Given the description of an element on the screen output the (x, y) to click on. 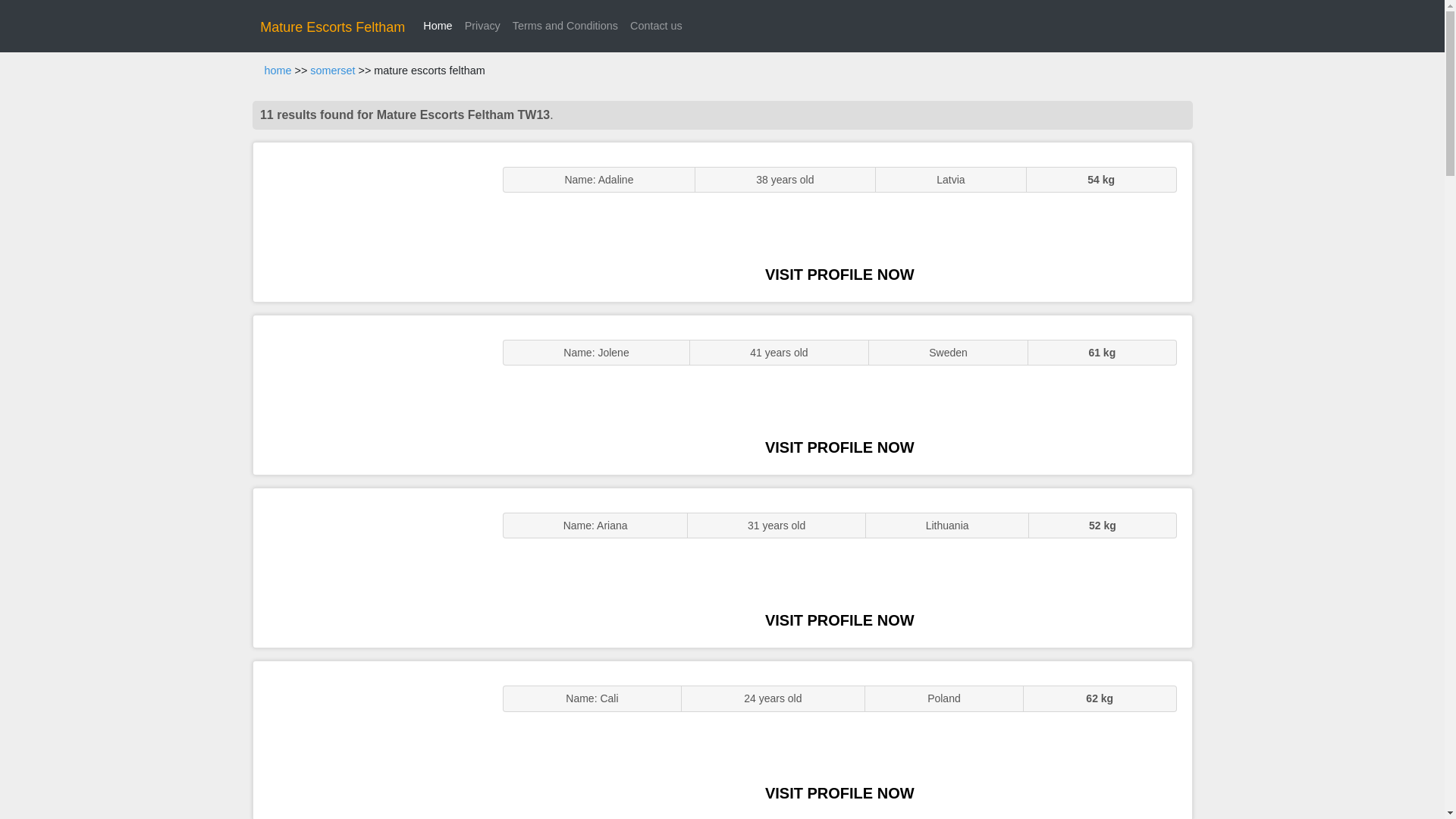
somerset (332, 70)
Terms and Conditions (565, 25)
 ENGLISH STUNNER (370, 222)
VISIT PROFILE NOW (839, 792)
Mature Escorts Feltham (332, 27)
Contact us (656, 25)
VISIT PROFILE NOW (839, 274)
home (277, 70)
Sluts (370, 739)
GFE (370, 395)
Privacy (482, 25)
Sexy (370, 567)
VISIT PROFILE NOW (839, 446)
VISIT PROFILE NOW (839, 619)
